Given the description of an element on the screen output the (x, y) to click on. 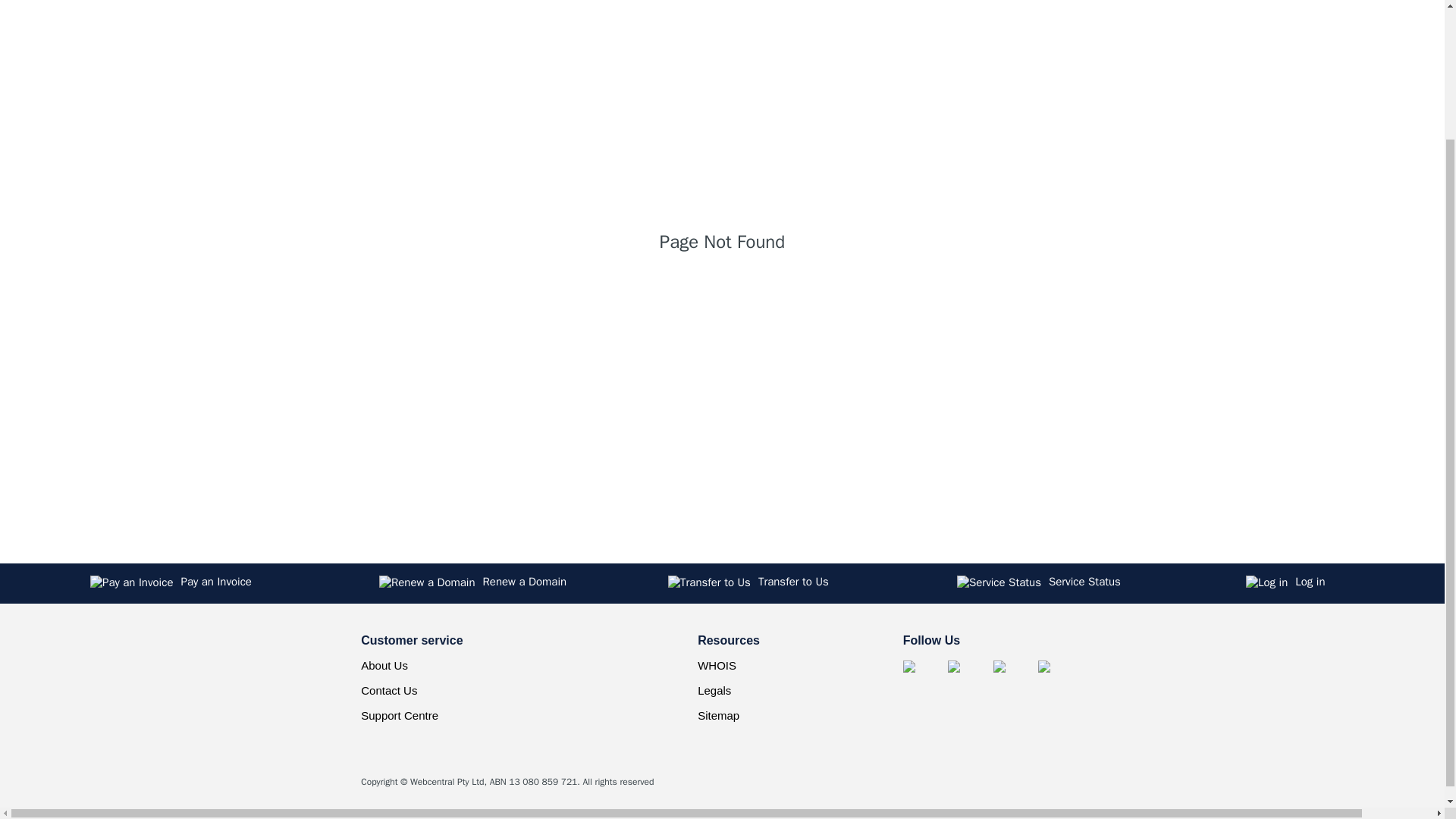
Support Centre (399, 714)
Renew a Domain (515, 583)
Legals (713, 689)
Pay an Invoice (227, 583)
WHOIS (716, 664)
Service Status (1093, 583)
About Us (384, 664)
Contact Us (388, 689)
Transfer to Us (805, 583)
Sitemap (718, 714)
